Given the description of an element on the screen output the (x, y) to click on. 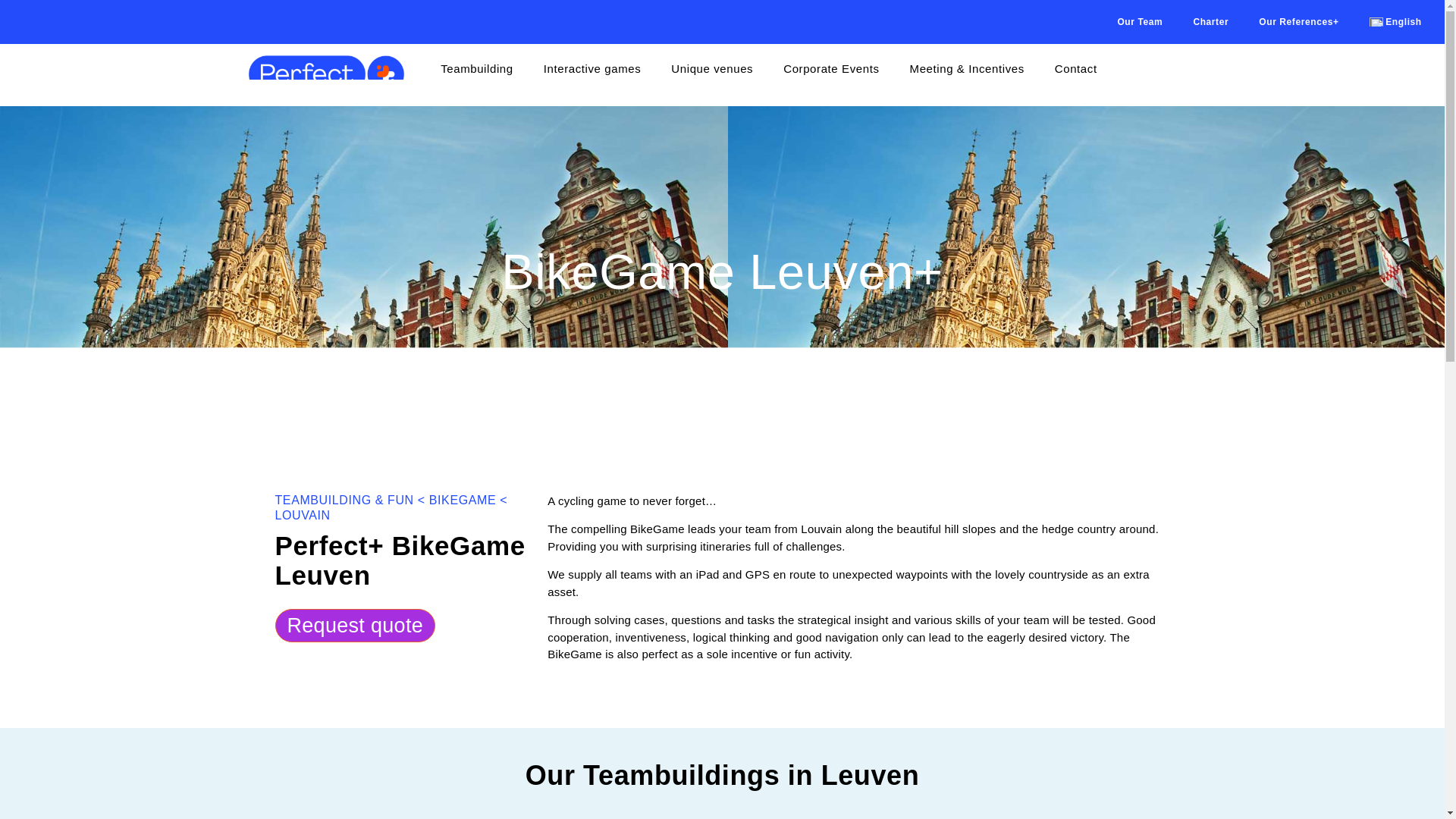
English (1395, 21)
Our Team (1139, 21)
English (1395, 21)
Charter (1210, 21)
Teambuilding (476, 68)
